Given the description of an element on the screen output the (x, y) to click on. 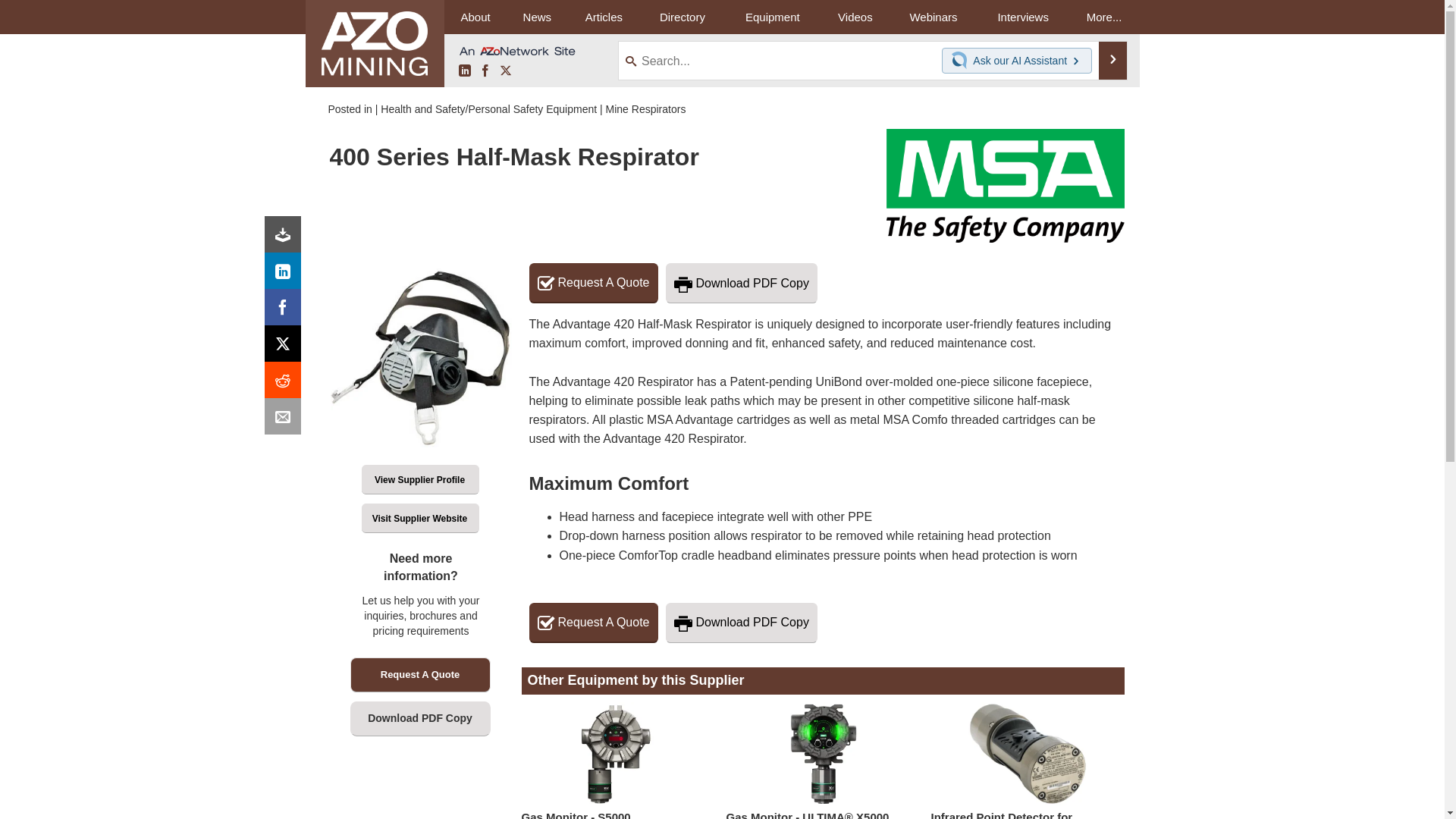
News (536, 17)
Download PDF copy (285, 238)
LinkedIn (464, 71)
X (285, 348)
Webinars (932, 17)
Directory (681, 17)
LinkedIn (285, 275)
Chat with our AI Assistant Ask our AI Assistant (1017, 60)
Videos (855, 17)
Articles (603, 17)
More... (1104, 17)
Equipment (772, 17)
Chat with our AI Assistant (962, 60)
MSA - The Safety Company logo. (971, 185)
